Given the description of an element on the screen output the (x, y) to click on. 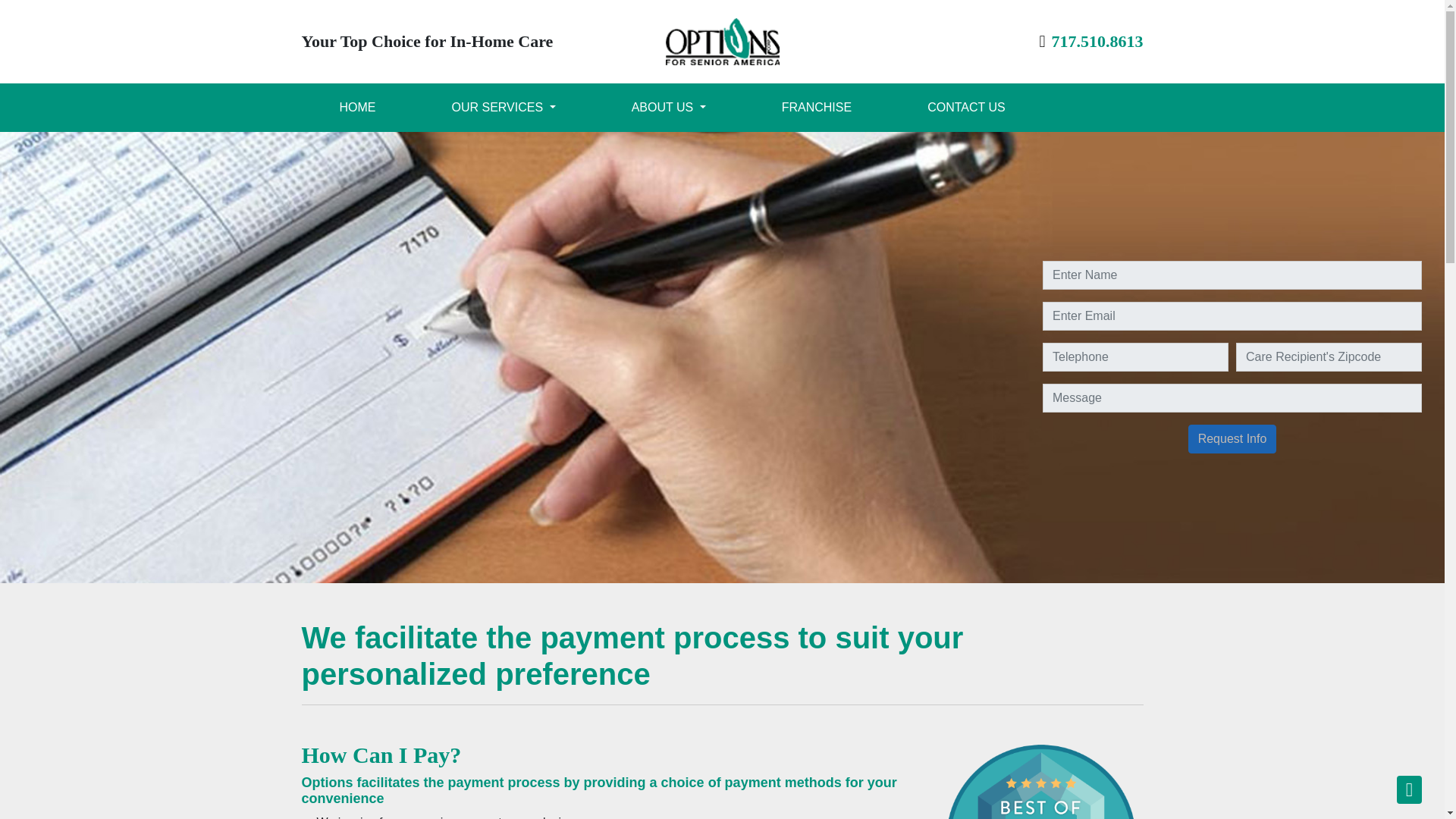
FRANCHISE (816, 107)
OUR SERVICES (503, 107)
CONTACT US (966, 107)
HOME (357, 107)
ABOUT US (669, 107)
Request Info (1232, 439)
